Given the description of an element on the screen output the (x, y) to click on. 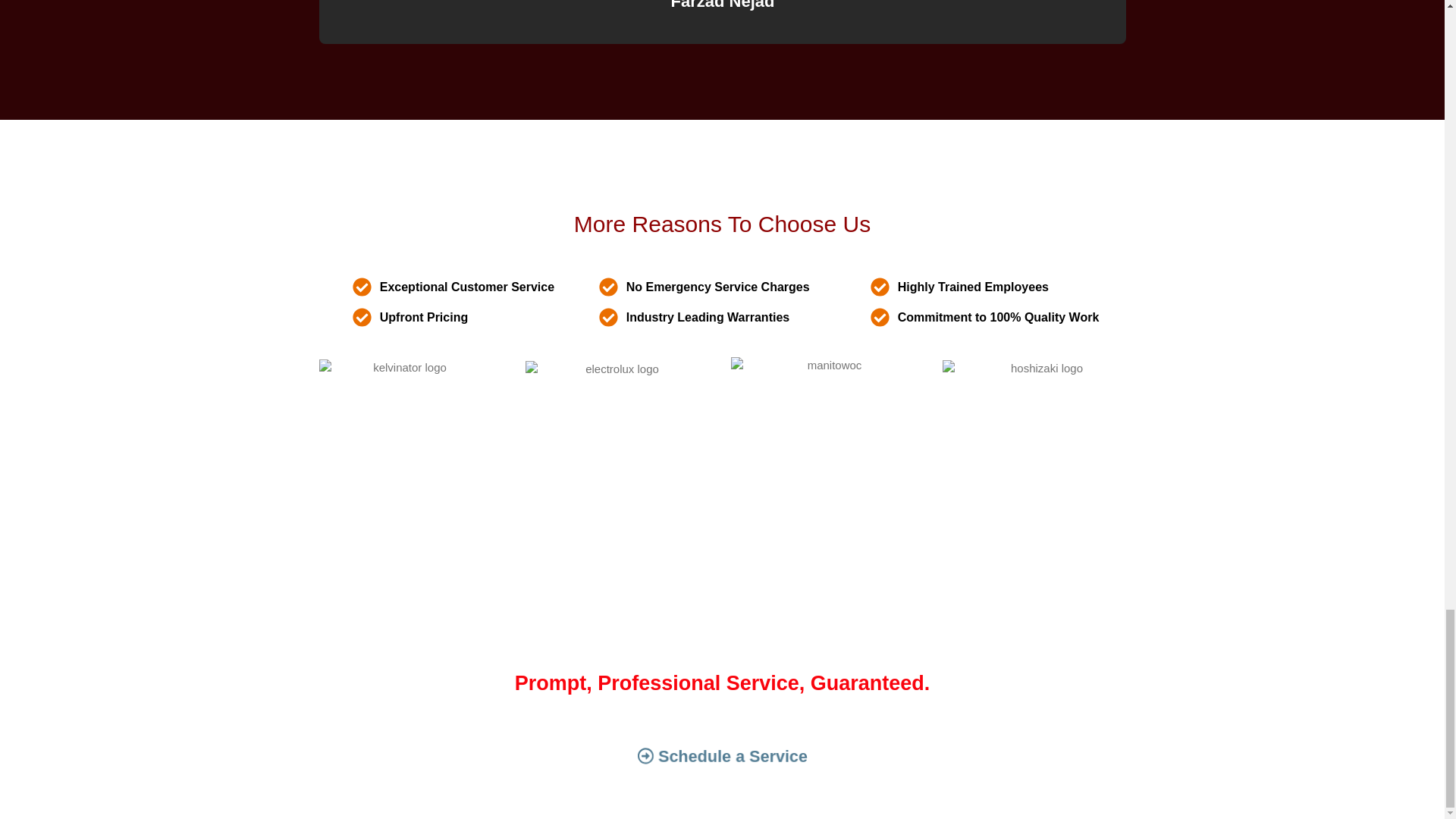
Schedule a Service (703, 755)
215-515-7616 (803, 644)
